Given the description of an element on the screen output the (x, y) to click on. 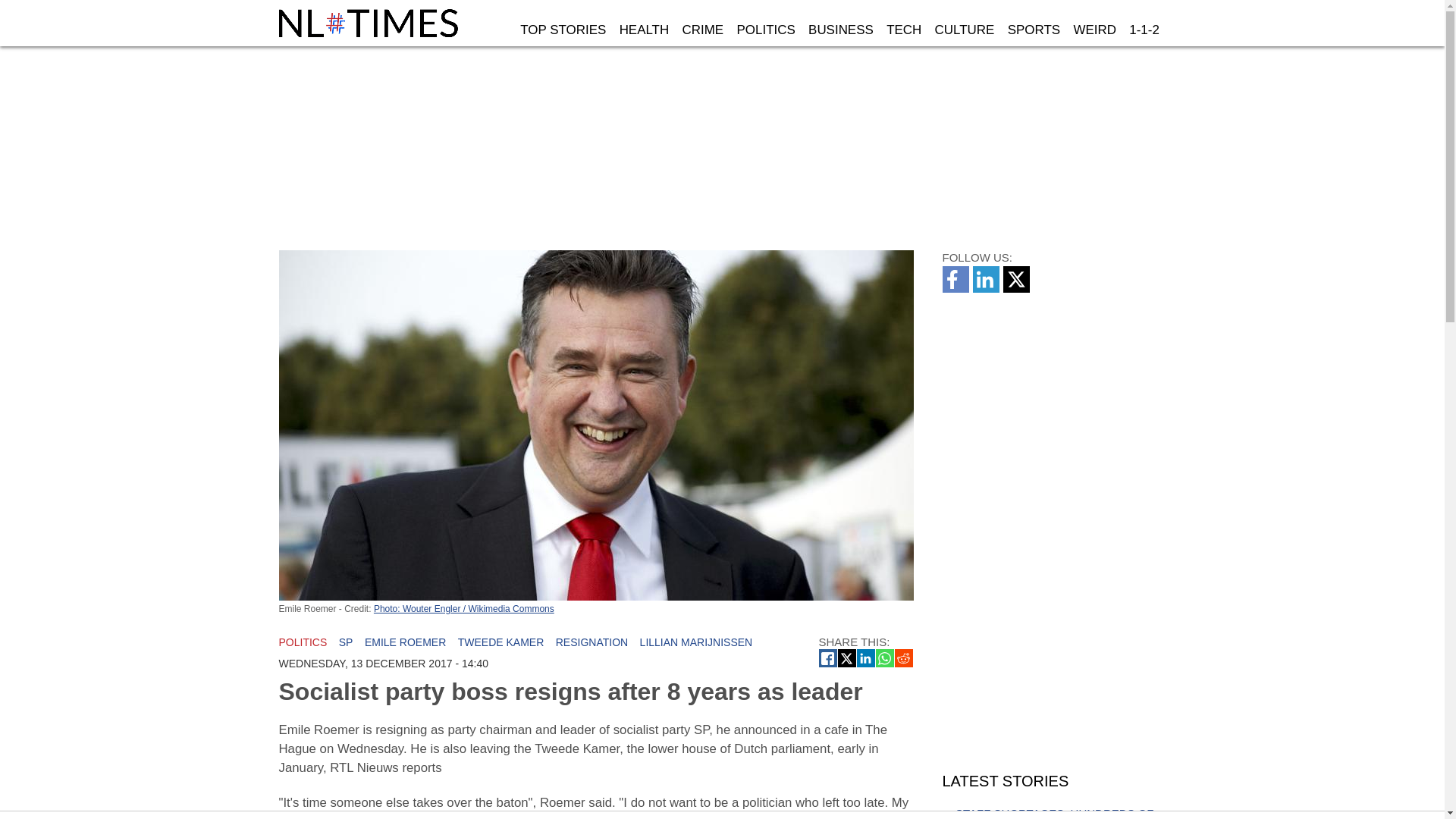
LILLIAN MARIJNISSEN (696, 642)
BUSINESS (840, 30)
Follow us on Facebook (957, 287)
REDDIT (903, 658)
CRIME (702, 30)
TWEEDE KAMER (501, 642)
SPORTS (1034, 30)
Follow us on X (1017, 287)
HEALTH (643, 30)
TOP STORIES (562, 30)
